Given the description of an element on the screen output the (x, y) to click on. 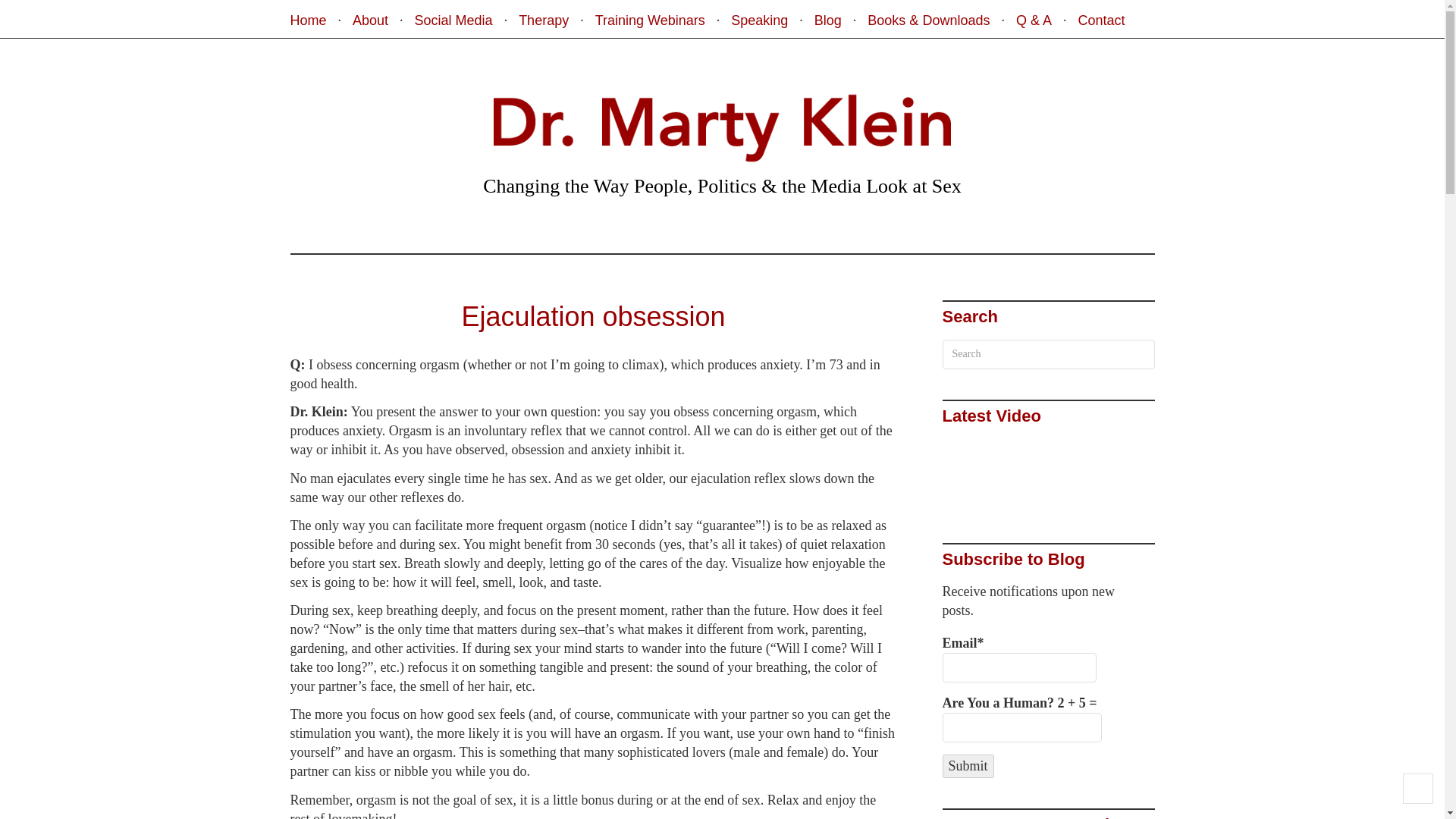
Therapy (543, 21)
Submit (967, 766)
Training Webinars (649, 21)
Social Media (453, 21)
Speaking (758, 21)
